Given the description of an element on the screen output the (x, y) to click on. 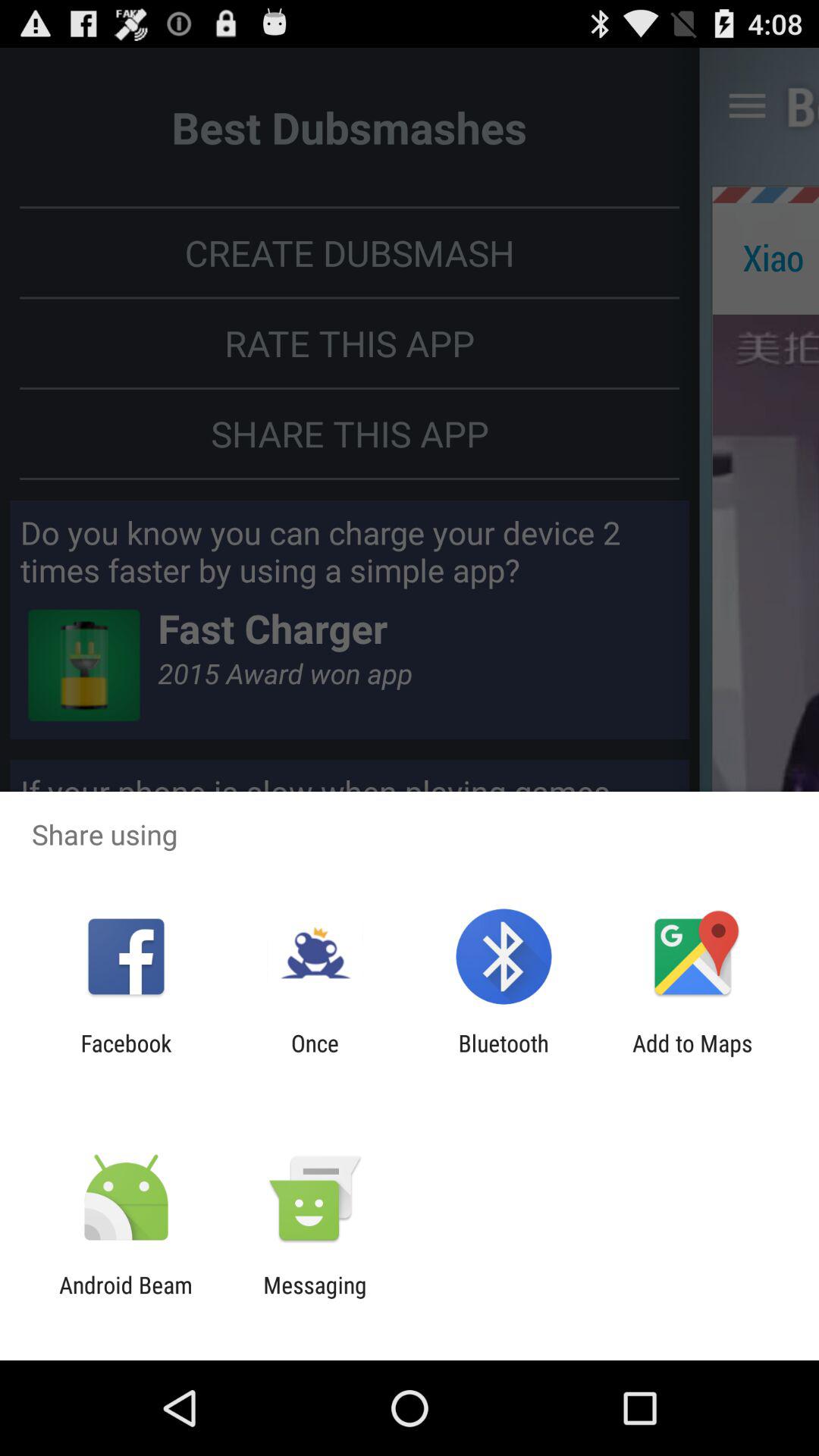
select the item next to the bluetooth item (314, 1056)
